Given the description of an element on the screen output the (x, y) to click on. 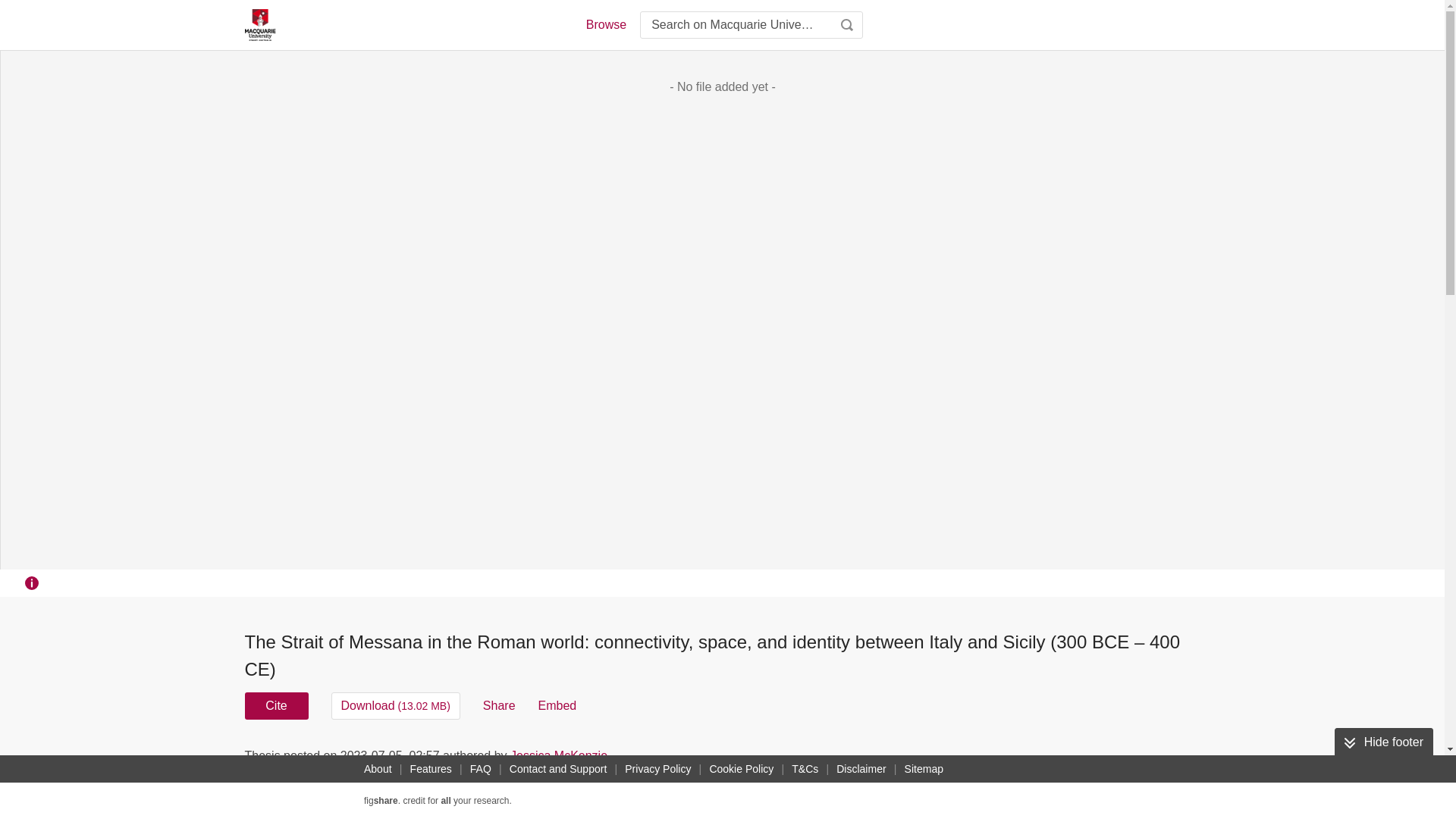
Cookie Policy (740, 769)
Hide footer (1383, 742)
Share (499, 705)
Jessica McKenzie (559, 755)
Disclaimer (860, 769)
Cite (275, 705)
USAGE METRICS (976, 759)
About (377, 769)
Embed (557, 705)
Sitemap (923, 769)
